Given the description of an element on the screen output the (x, y) to click on. 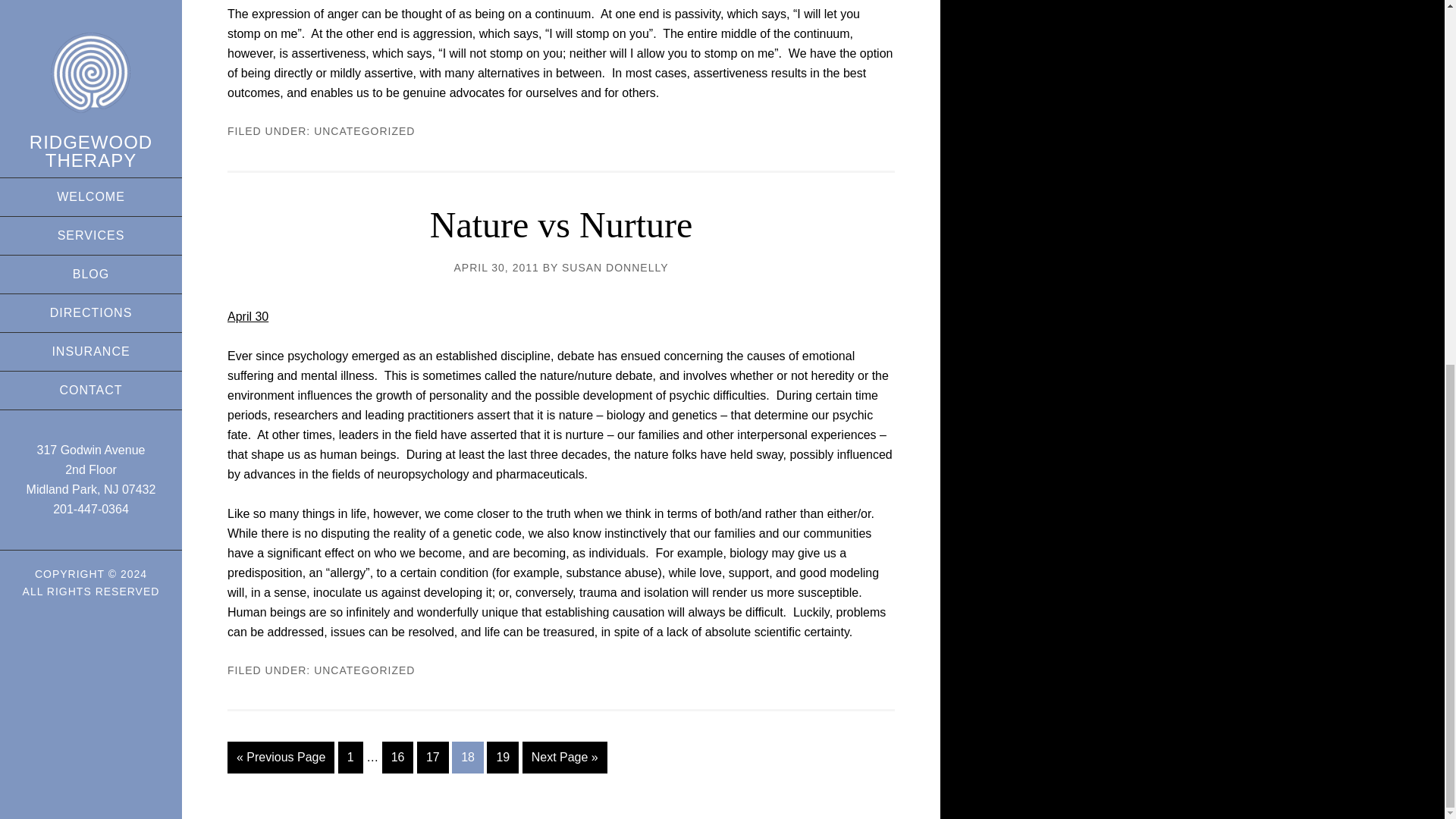
16 (397, 757)
SUSAN DONNELLY (615, 267)
18 (467, 757)
17 (432, 757)
UNCATEGORIZED (364, 131)
UNCATEGORIZED (364, 670)
Nature vs Nurture (561, 224)
19 (502, 757)
